Given the description of an element on the screen output the (x, y) to click on. 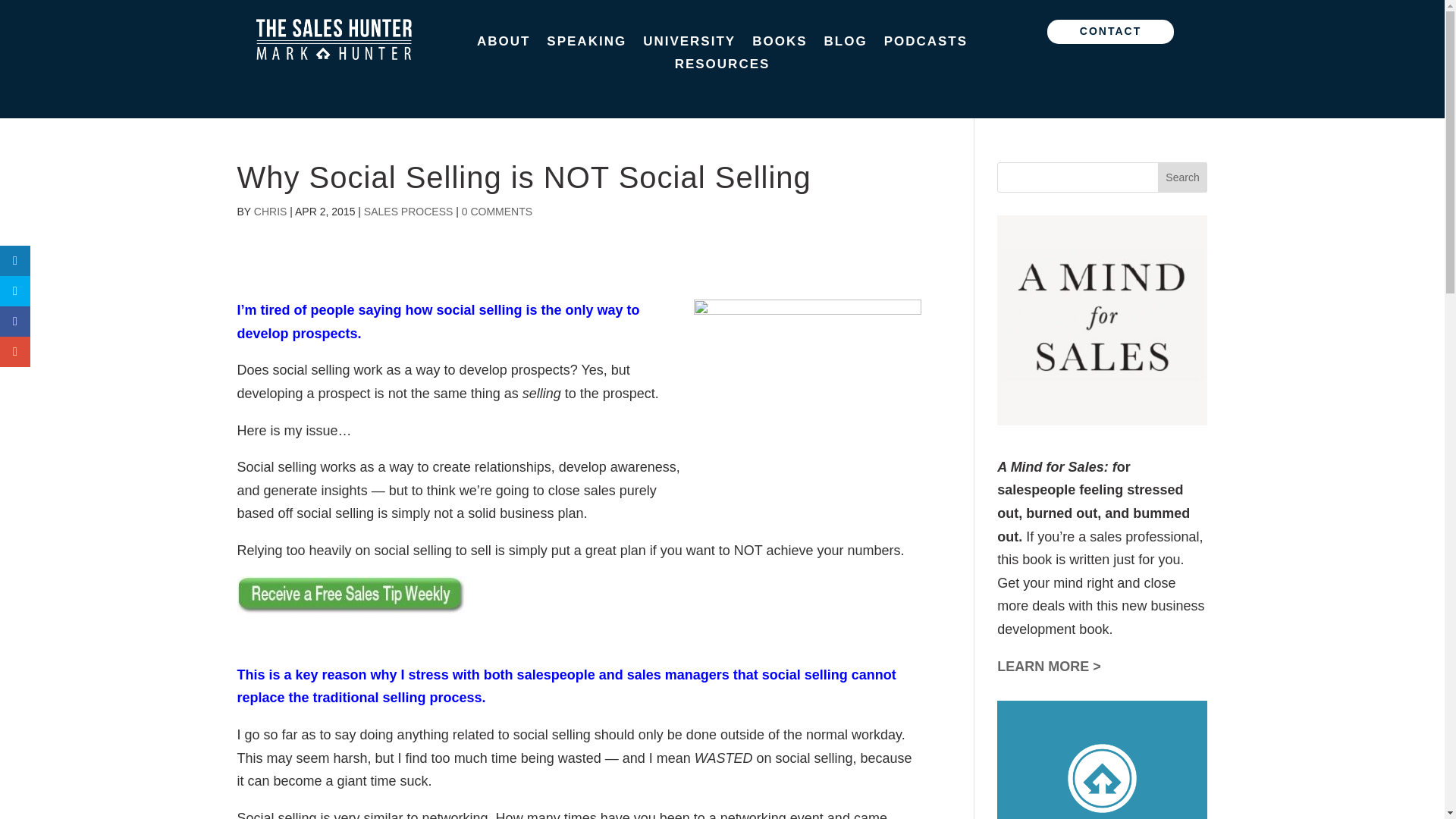
SPEAKING (586, 44)
SALES PROCESS (408, 211)
0 COMMENTS (496, 211)
PODCASTS (925, 44)
Search (1182, 177)
RESOURCES (722, 67)
UNIVERSITY (689, 44)
Posts by chris (269, 211)
CHRIS (269, 211)
ABOUT (503, 44)
